Given the description of an element on the screen output the (x, y) to click on. 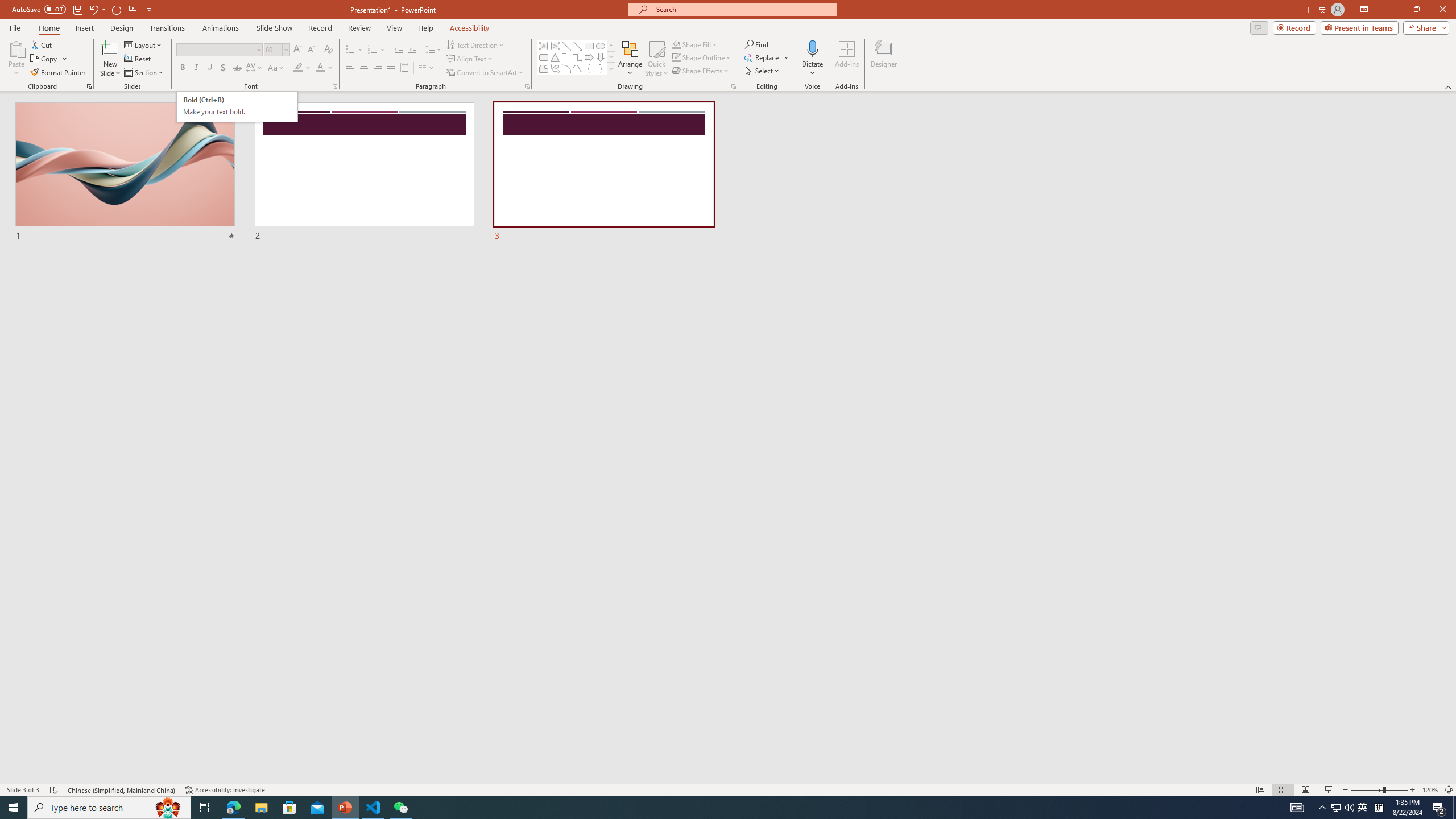
Reset (138, 58)
Align Right (377, 67)
Paste (16, 48)
Comments (1259, 27)
Vertical Text Box (554, 45)
Font Color (324, 67)
Left Brace (589, 68)
Open (285, 49)
Home (48, 28)
Font (215, 49)
Copy (45, 58)
Undo (237, 106)
Designer (92, 9)
